Given the description of an element on the screen output the (x, y) to click on. 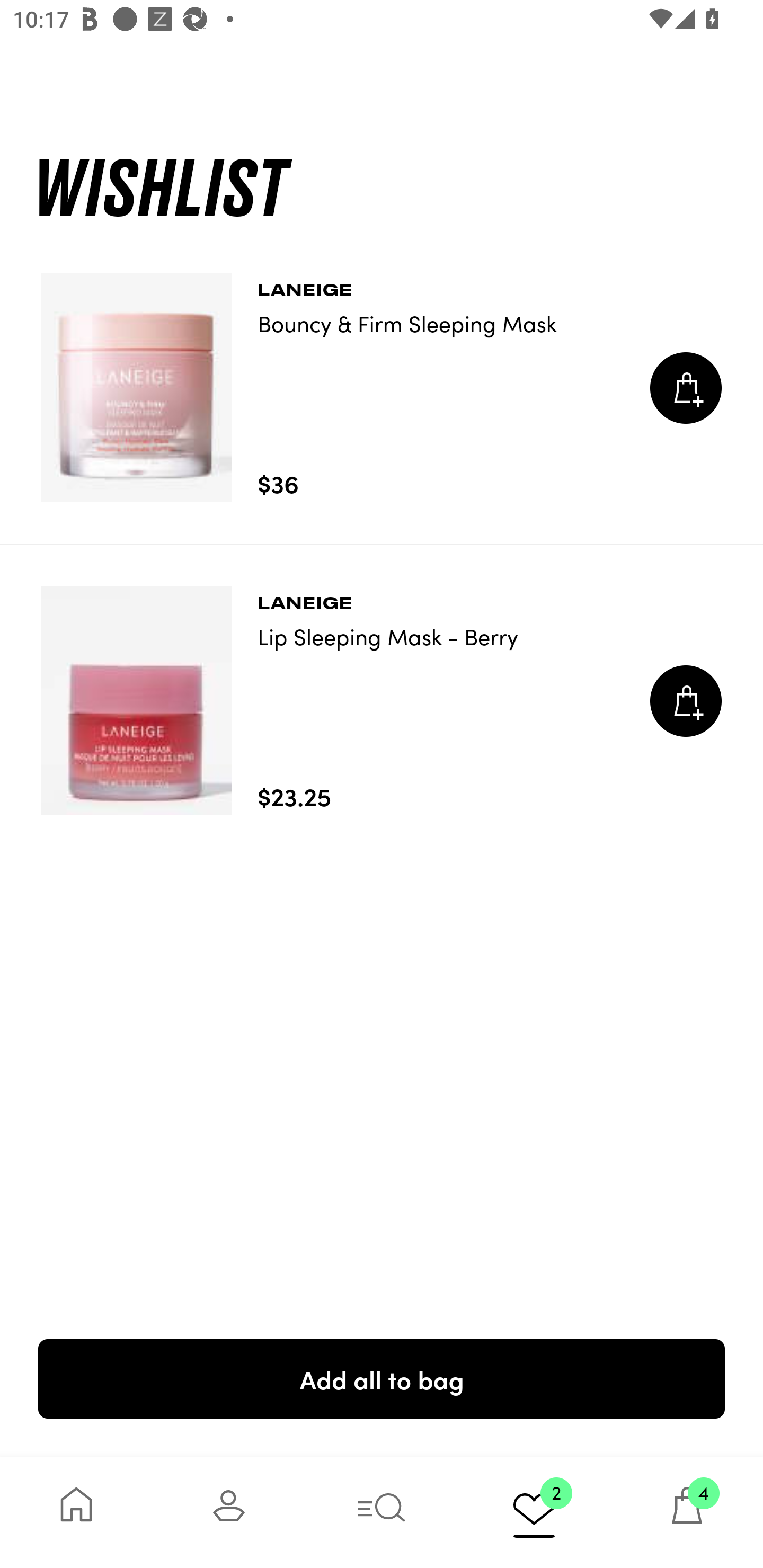
LANEIGE Bouncy & Firm Sleeping Mask $36 (381, 388)
LANEIGE Lip Sleeping Mask - Berry $23.25 (381, 700)
Add all to bag (381, 1379)
2 (533, 1512)
4 (686, 1512)
